Given the description of an element on the screen output the (x, y) to click on. 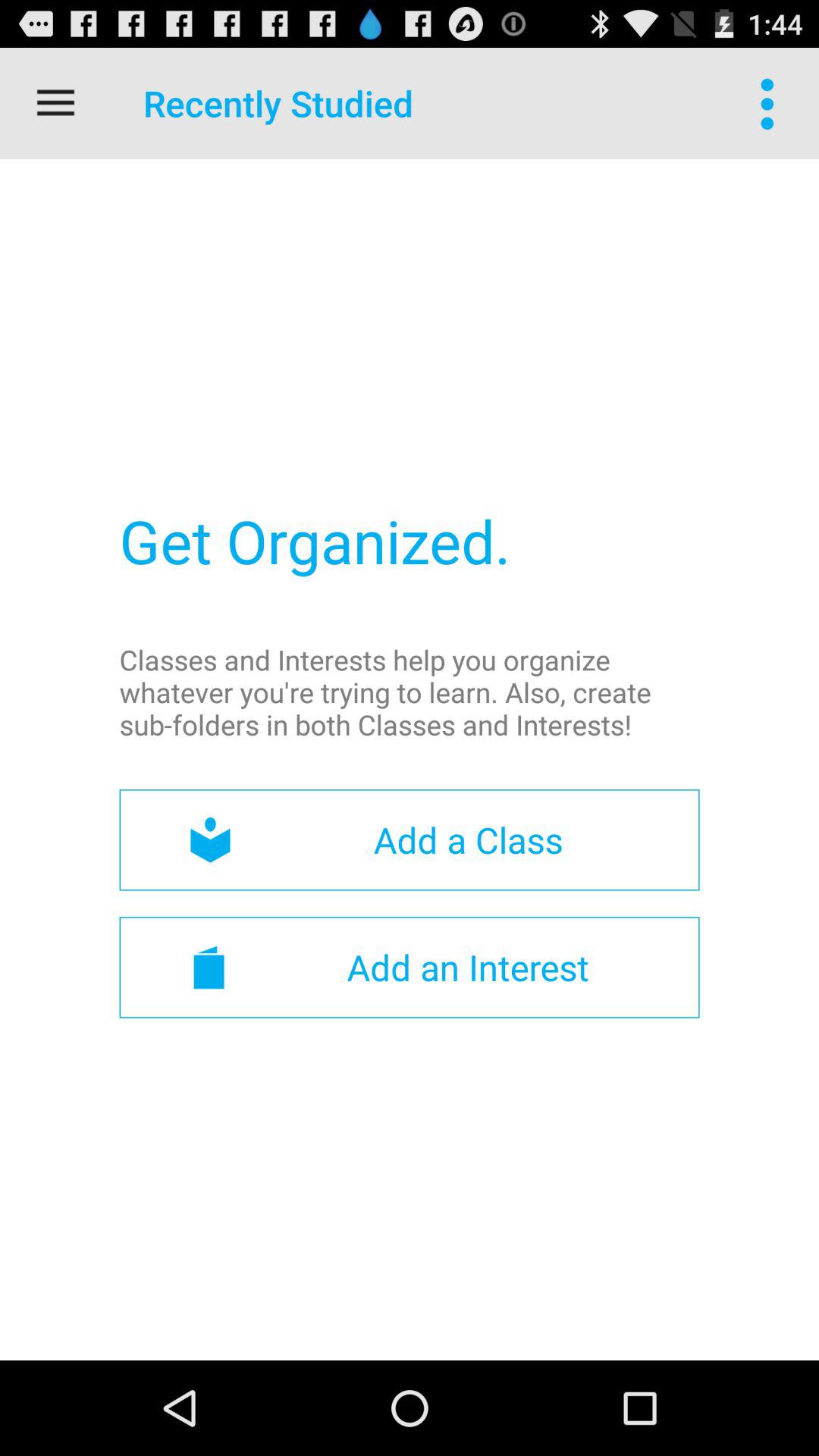
swipe until the add an interest item (409, 967)
